Given the description of an element on the screen output the (x, y) to click on. 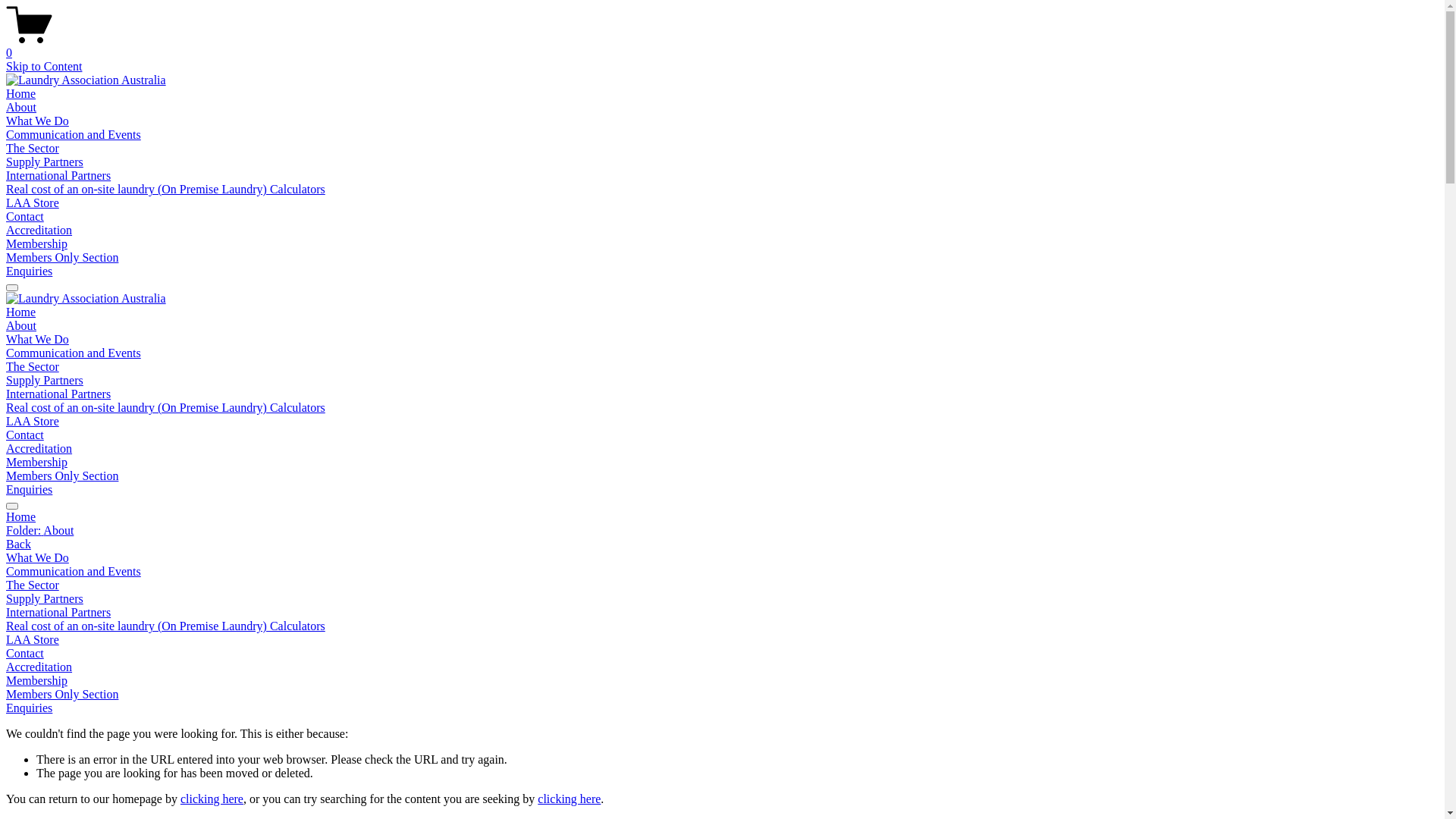
Contact Element type: text (24, 434)
Home Element type: text (20, 93)
Skip to Content Element type: text (43, 65)
Back Element type: text (18, 543)
clicking here Element type: text (211, 798)
Communication and Events Element type: text (73, 134)
What We Do Element type: text (37, 120)
Accreditation Element type: text (722, 667)
LAA Store Element type: text (722, 639)
Supply Partners Element type: text (44, 379)
Accreditation Element type: text (39, 448)
The Sector Element type: text (32, 147)
International Partners Element type: text (58, 175)
LAA Store Element type: text (32, 420)
clicking here Element type: text (568, 798)
Enquiries Element type: text (29, 270)
What We Do Element type: text (37, 338)
Membership Element type: text (36, 243)
International Partners Element type: text (722, 612)
Communication and Events Element type: text (722, 571)
What We Do Element type: text (722, 557)
Communication and Events Element type: text (73, 352)
Folder: About Element type: text (722, 530)
Contact Element type: text (24, 216)
Enquiries Element type: text (29, 489)
Home Element type: text (20, 311)
Members Only Section Element type: text (62, 257)
Supply Partners Element type: text (44, 161)
International Partners Element type: text (58, 393)
0 Element type: text (722, 45)
Supply Partners Element type: text (722, 598)
LAA Store Element type: text (32, 202)
The Sector Element type: text (32, 366)
Accreditation Element type: text (39, 229)
Members Only Section Element type: text (722, 694)
Enquiries Element type: text (29, 707)
Home Element type: text (722, 517)
Members Only Section Element type: text (62, 475)
Membership Element type: text (36, 461)
Membership Element type: text (722, 680)
The Sector Element type: text (722, 585)
Contact Element type: text (722, 653)
About Element type: text (21, 106)
About Element type: text (21, 325)
